Given the description of an element on the screen output the (x, y) to click on. 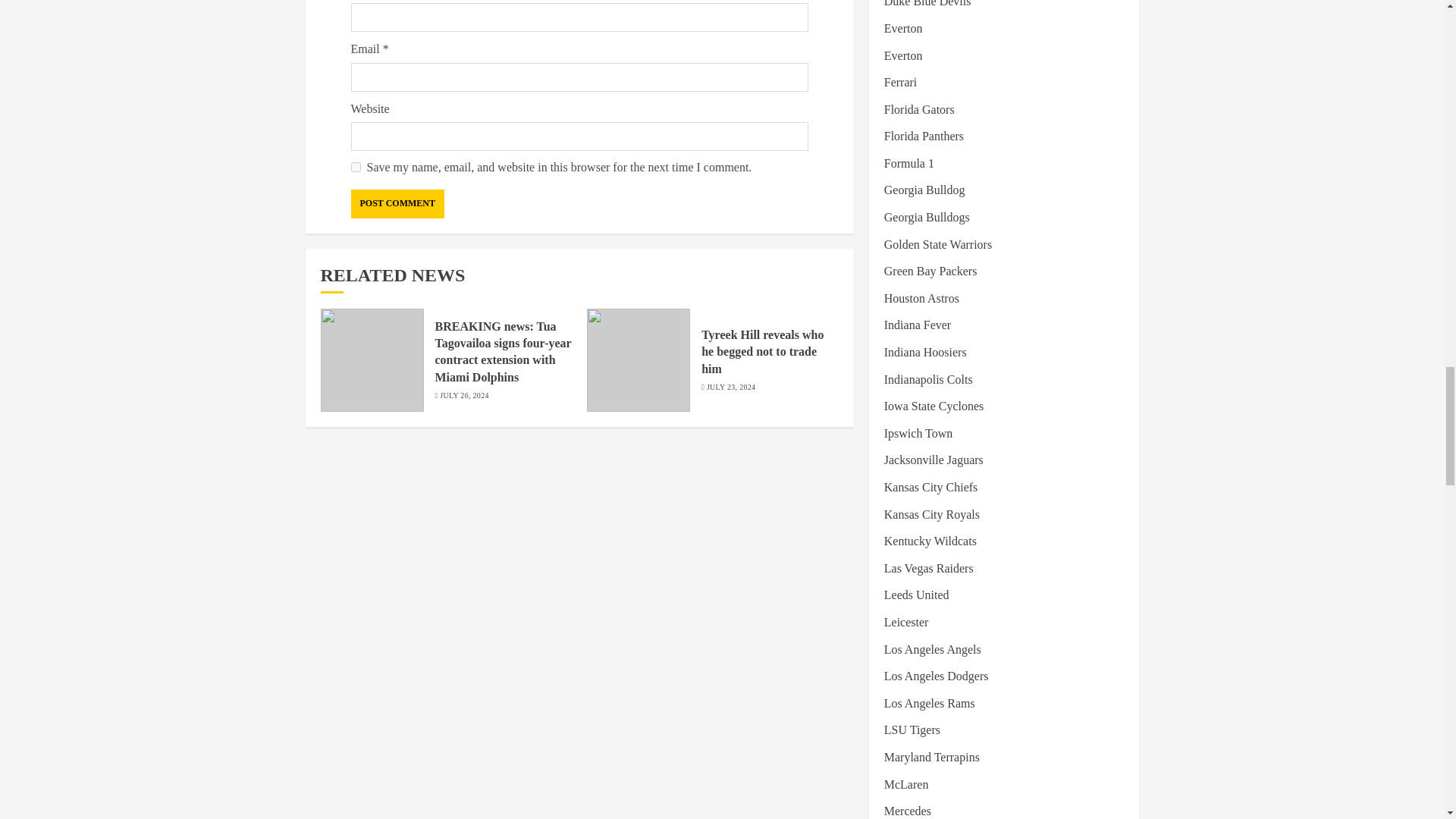
Post Comment (397, 203)
JULY 26, 2024 (463, 395)
yes (354, 166)
JULY 23, 2024 (730, 387)
Post Comment (397, 203)
Tyreek Hill reveals who he begged not to trade him (762, 351)
